Given the description of an element on the screen output the (x, y) to click on. 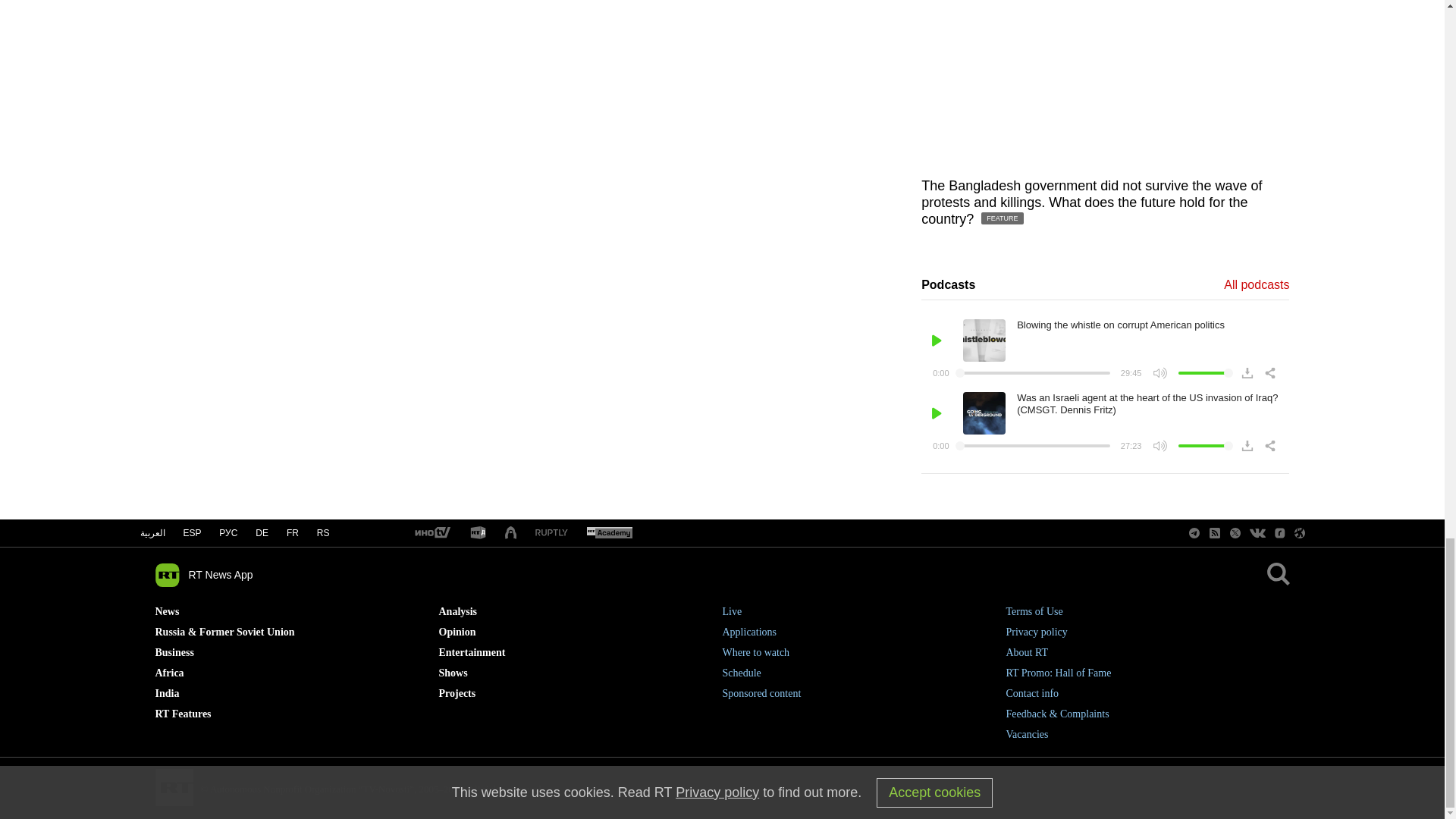
RT  (478, 533)
RT  (608, 533)
RT  (551, 533)
RT  (431, 533)
